Given the description of an element on the screen output the (x, y) to click on. 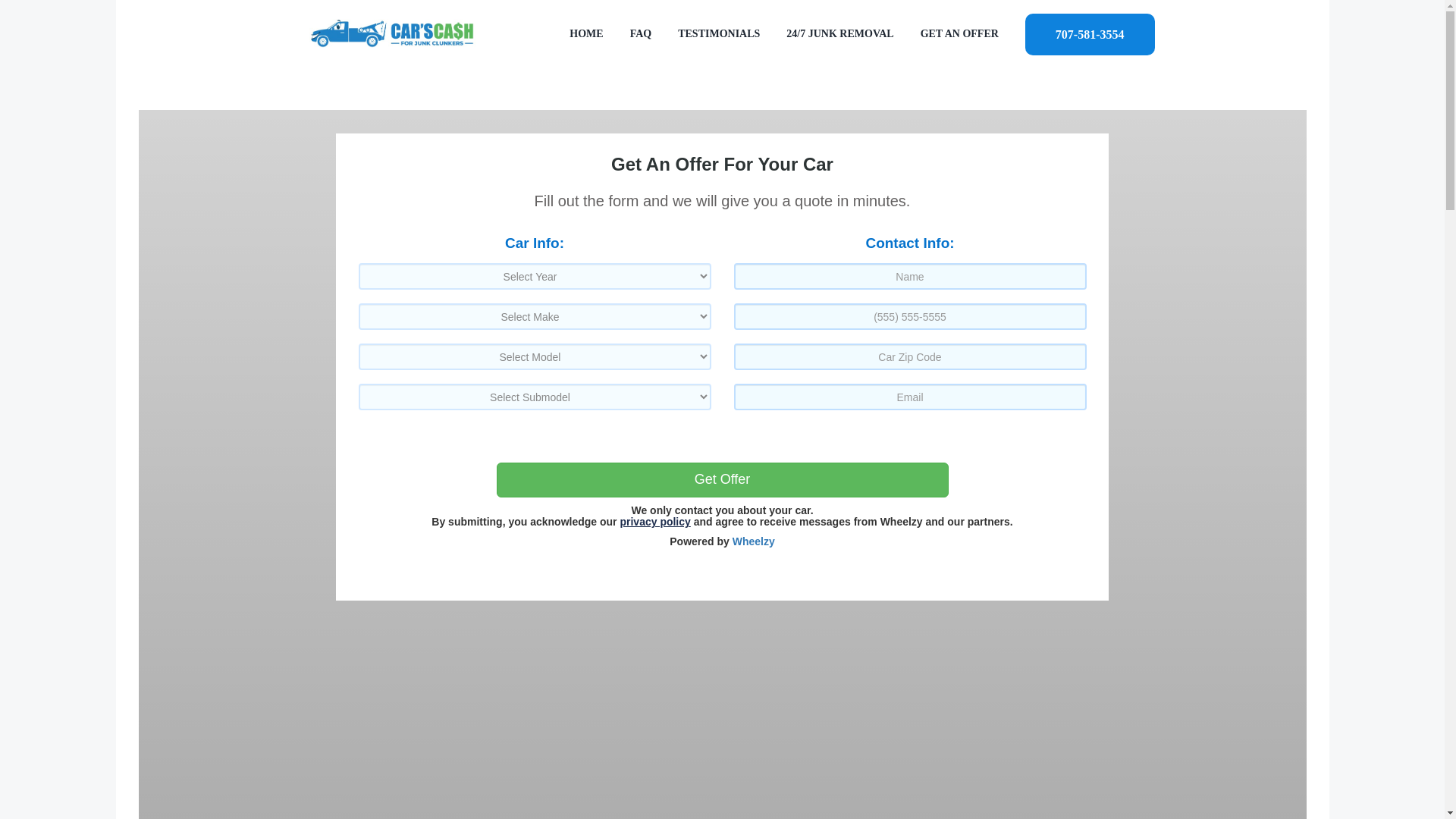
707-581-3554 (1089, 33)
GET AN OFFER (959, 33)
TESTIMONIALS (719, 33)
